Given the description of an element on the screen output the (x, y) to click on. 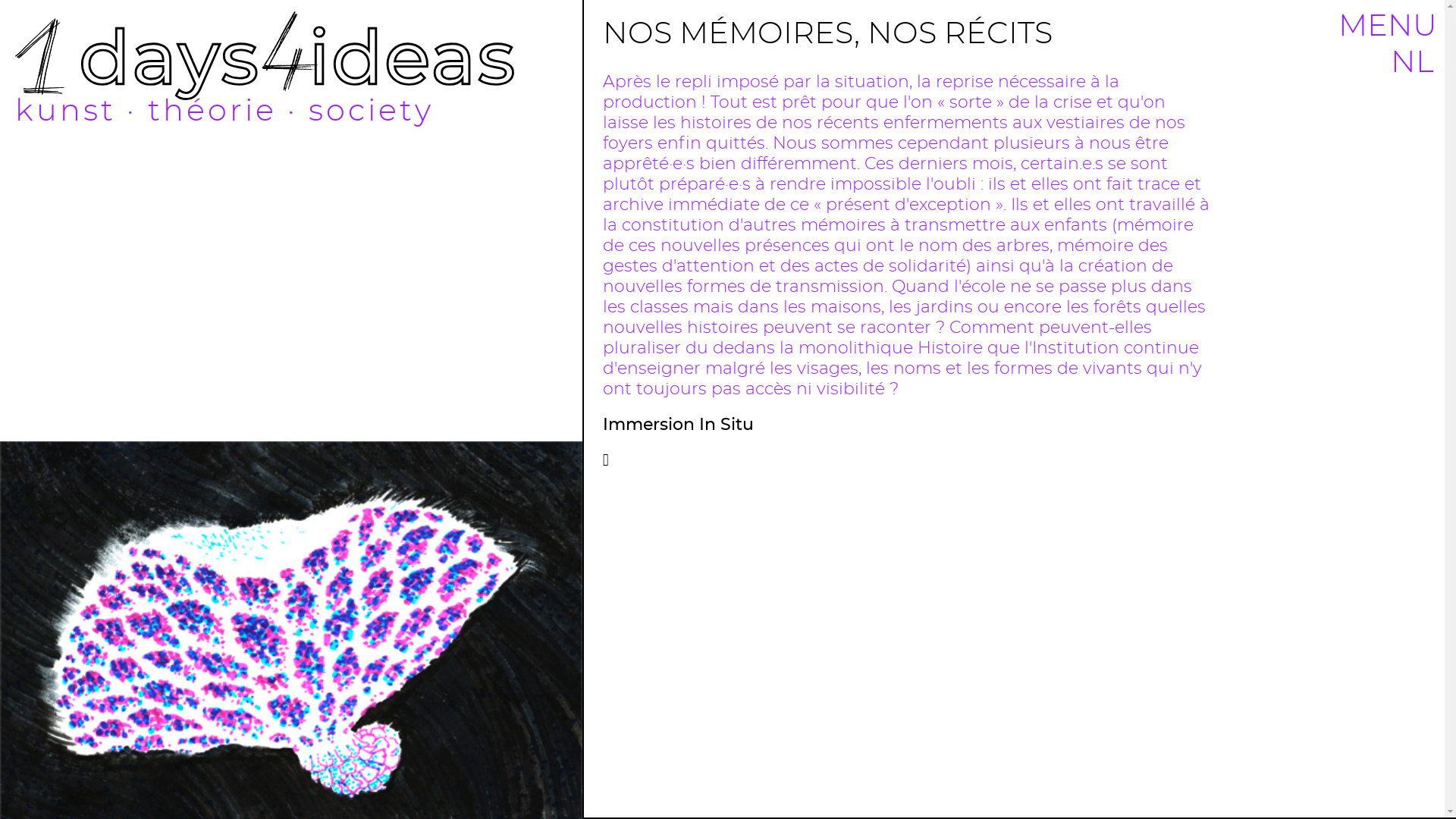
kunst Element type: text (65, 111)
NL Element type: text (1411, 62)
